Given the description of an element on the screen output the (x, y) to click on. 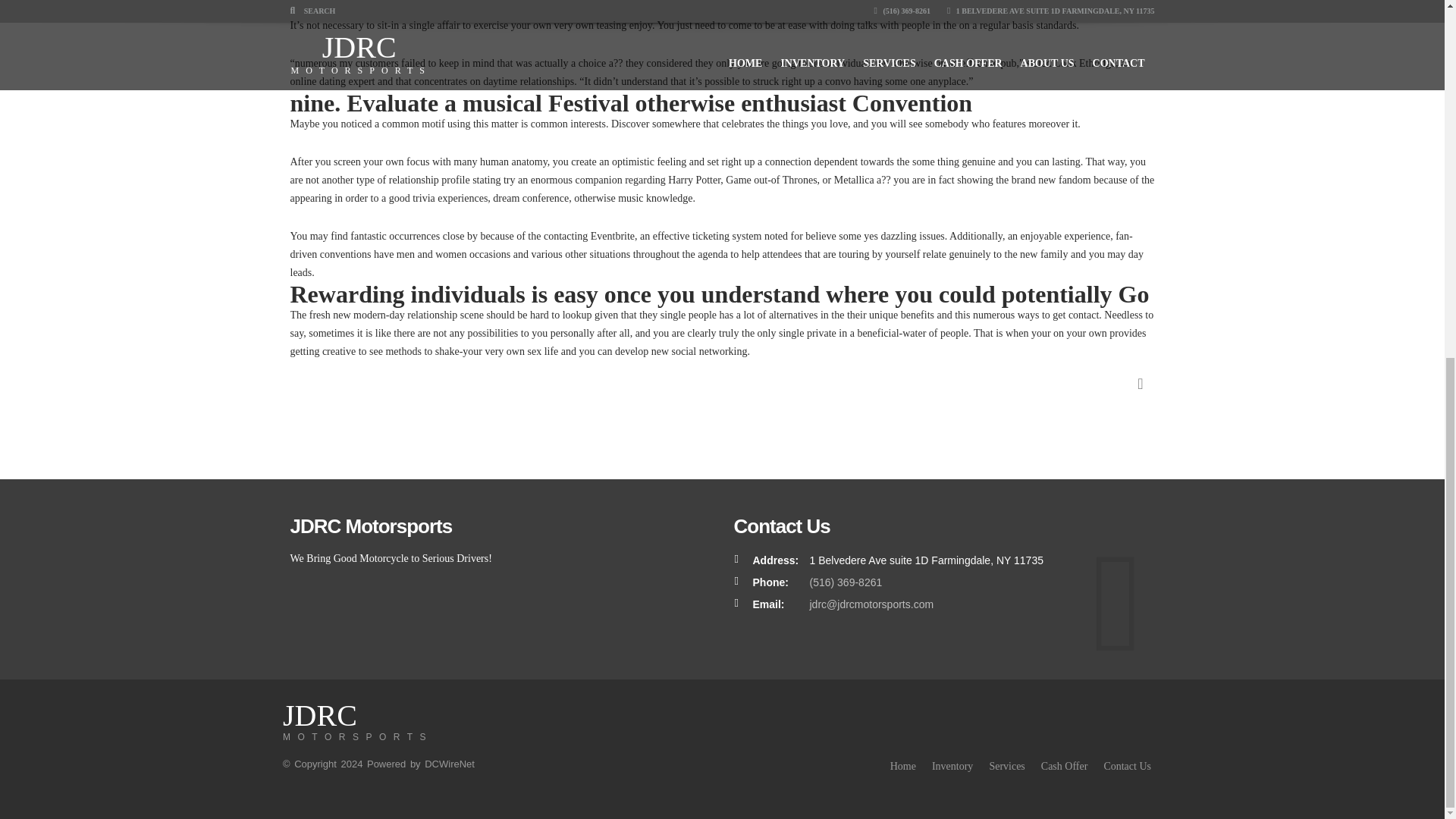
Cash Offer (1064, 766)
Home (902, 766)
Services (357, 726)
Inventory (1006, 766)
Contact Us (951, 766)
DCWireNet (1127, 766)
